Given the description of an element on the screen output the (x, y) to click on. 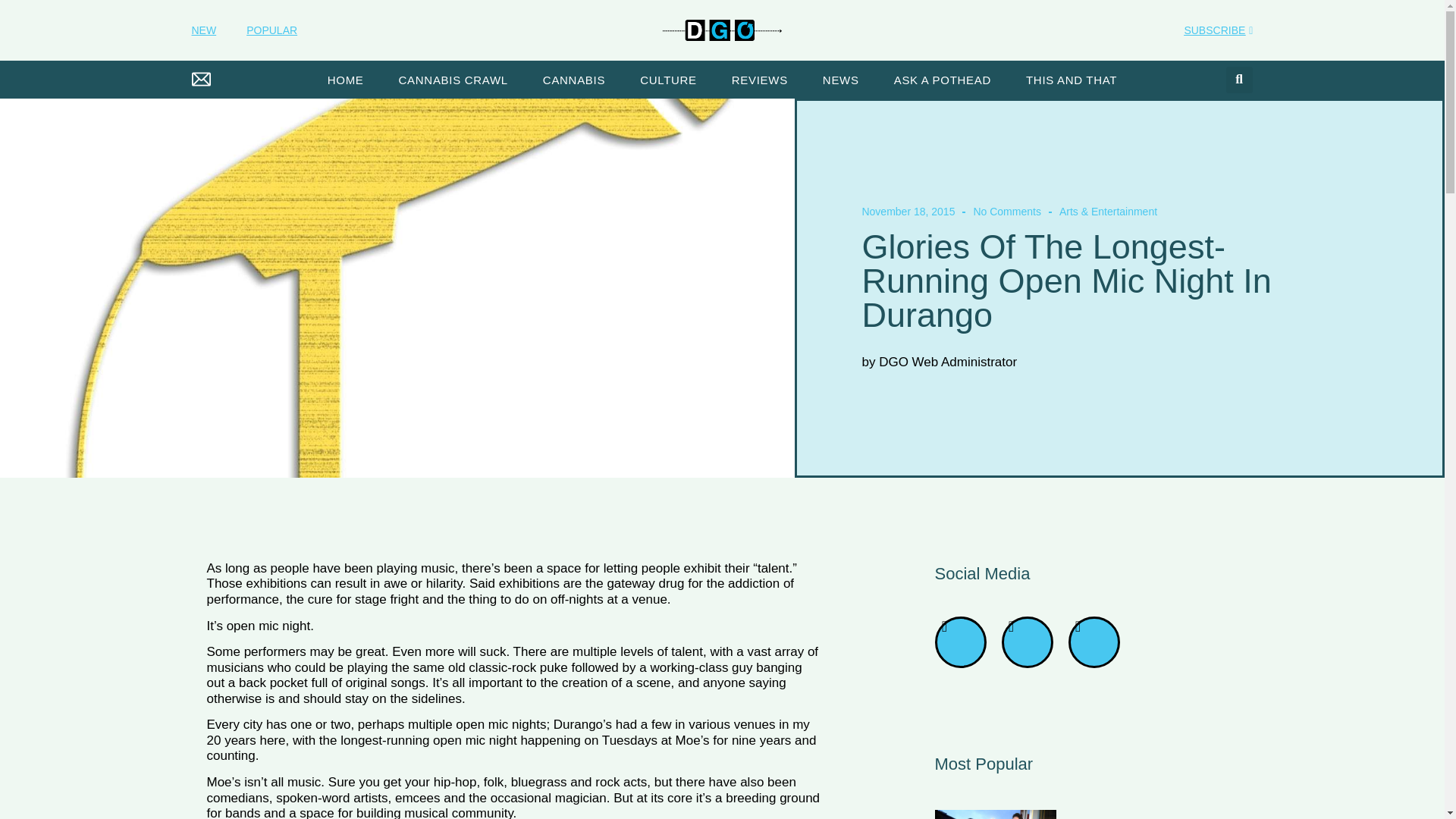
CANNABIS CRAWL (453, 79)
REVIEWS (759, 79)
ASK A POTHEAD (942, 79)
POPULAR (271, 30)
NEWS (840, 79)
NEW (202, 30)
SUBSCRIBE (1217, 31)
THIS AND THAT (1071, 79)
CANNABIS (573, 79)
HOME (345, 79)
